Given the description of an element on the screen output the (x, y) to click on. 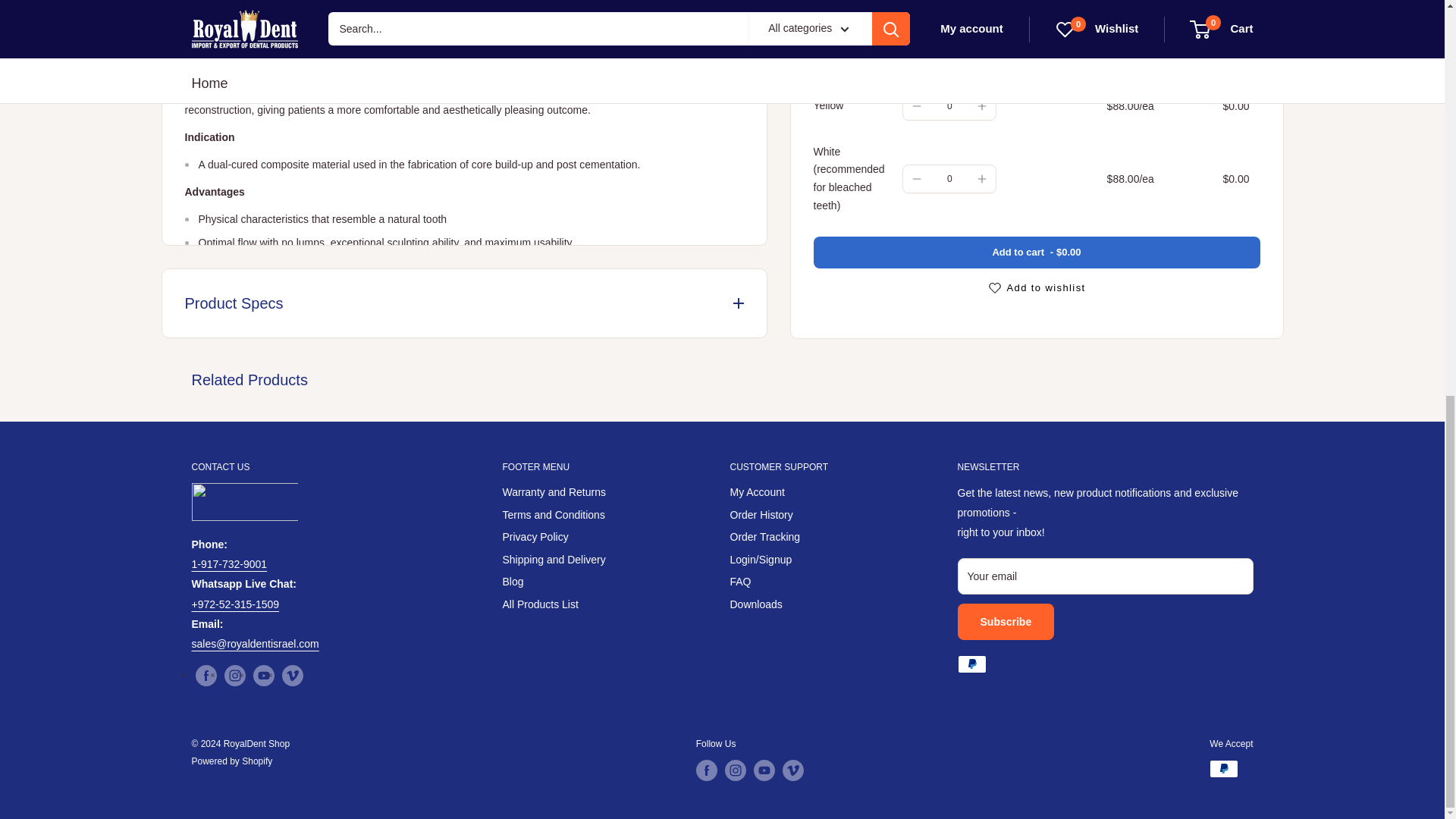
whatsapp support royaldentshop (234, 604)
call royal dent shop (228, 563)
send us an email (254, 644)
